Given the description of an element on the screen output the (x, y) to click on. 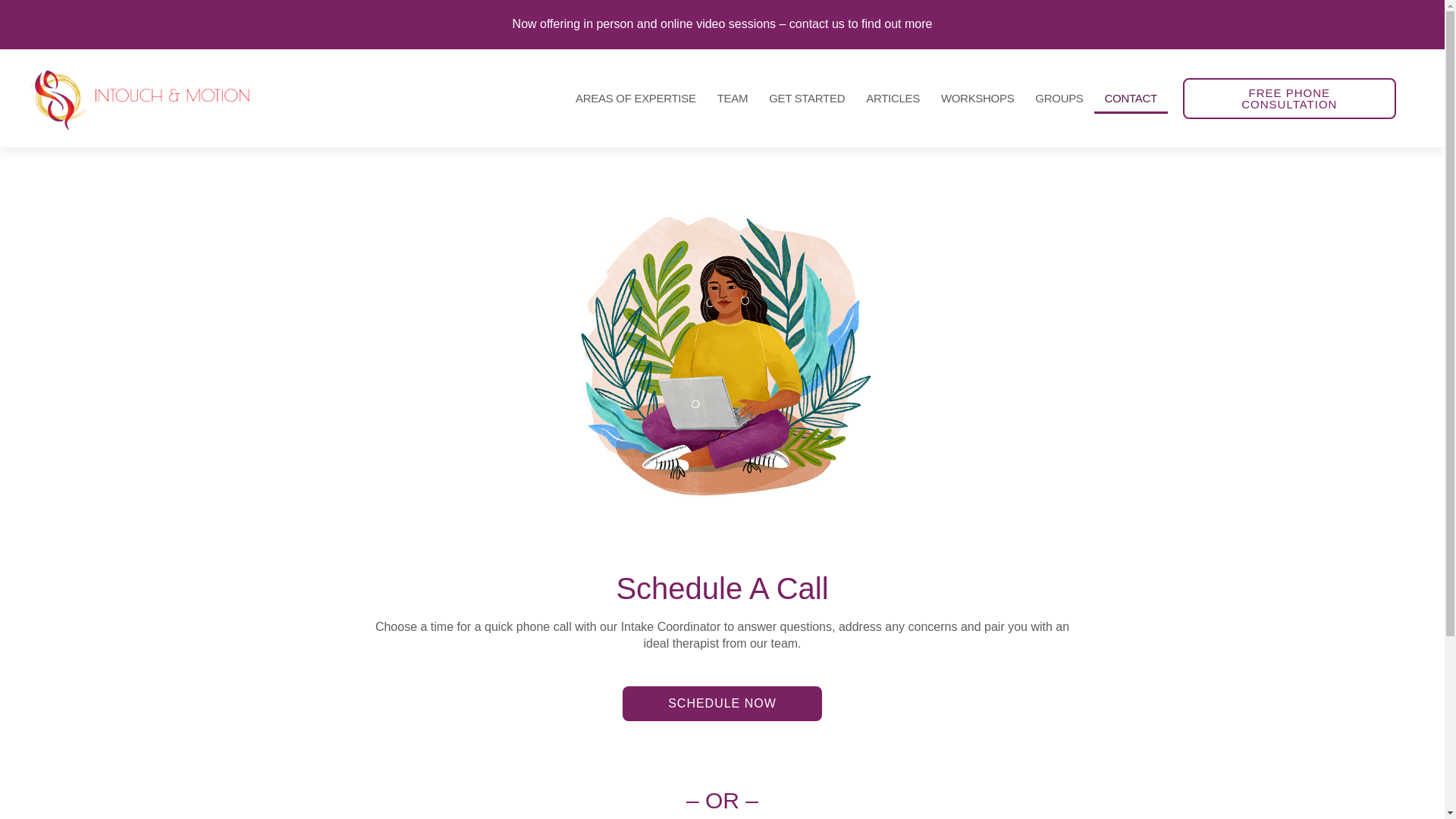
GROUPS (1059, 97)
CONTACT (1130, 97)
Page 5 (722, 635)
GET STARTED (807, 97)
ARTICLES (893, 97)
AREAS OF EXPERTISE (635, 97)
TEAM (732, 97)
WORKSHOPS (977, 97)
